Given the description of an element on the screen output the (x, y) to click on. 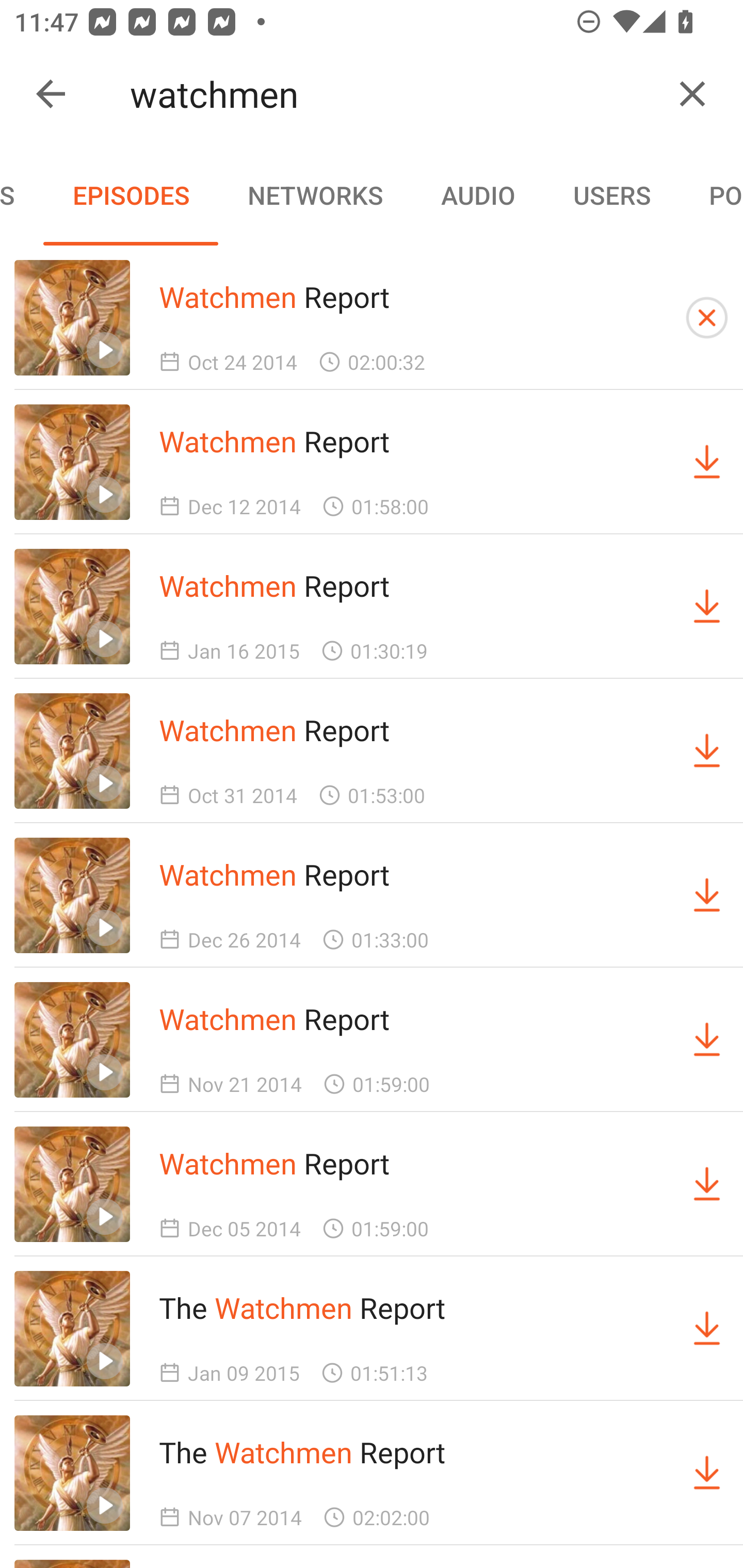
Collapse (50, 93)
Clear query (692, 93)
watchmen (393, 94)
EPISODES (130, 195)
NETWORKS (314, 195)
AUDIO (477, 195)
USERS (611, 195)
Cancel Downloading (706, 317)
Download (706, 462)
Download (706, 606)
Download (706, 751)
Download (706, 895)
Download (706, 1039)
Download (706, 1183)
Download (706, 1328)
Download (706, 1472)
